Given the description of an element on the screen output the (x, y) to click on. 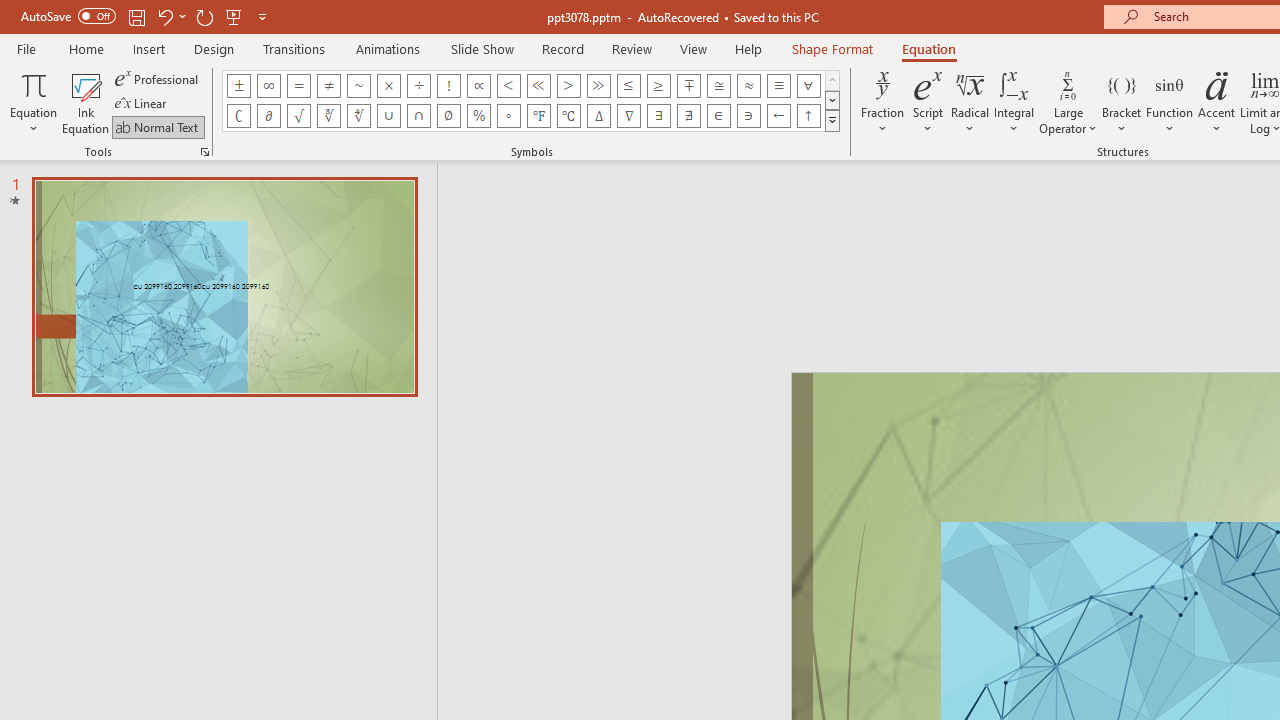
Equation Symbol Cube Root (328, 115)
Equation Symbol Degrees (508, 115)
Equation Symbols (832, 120)
Equation Symbol Less Than or Equal To (628, 85)
Equation Symbol Fourth Root (358, 115)
Equation Symbol Division Sign (418, 85)
Equation Symbol There Exists (658, 115)
